Given the description of an element on the screen output the (x, y) to click on. 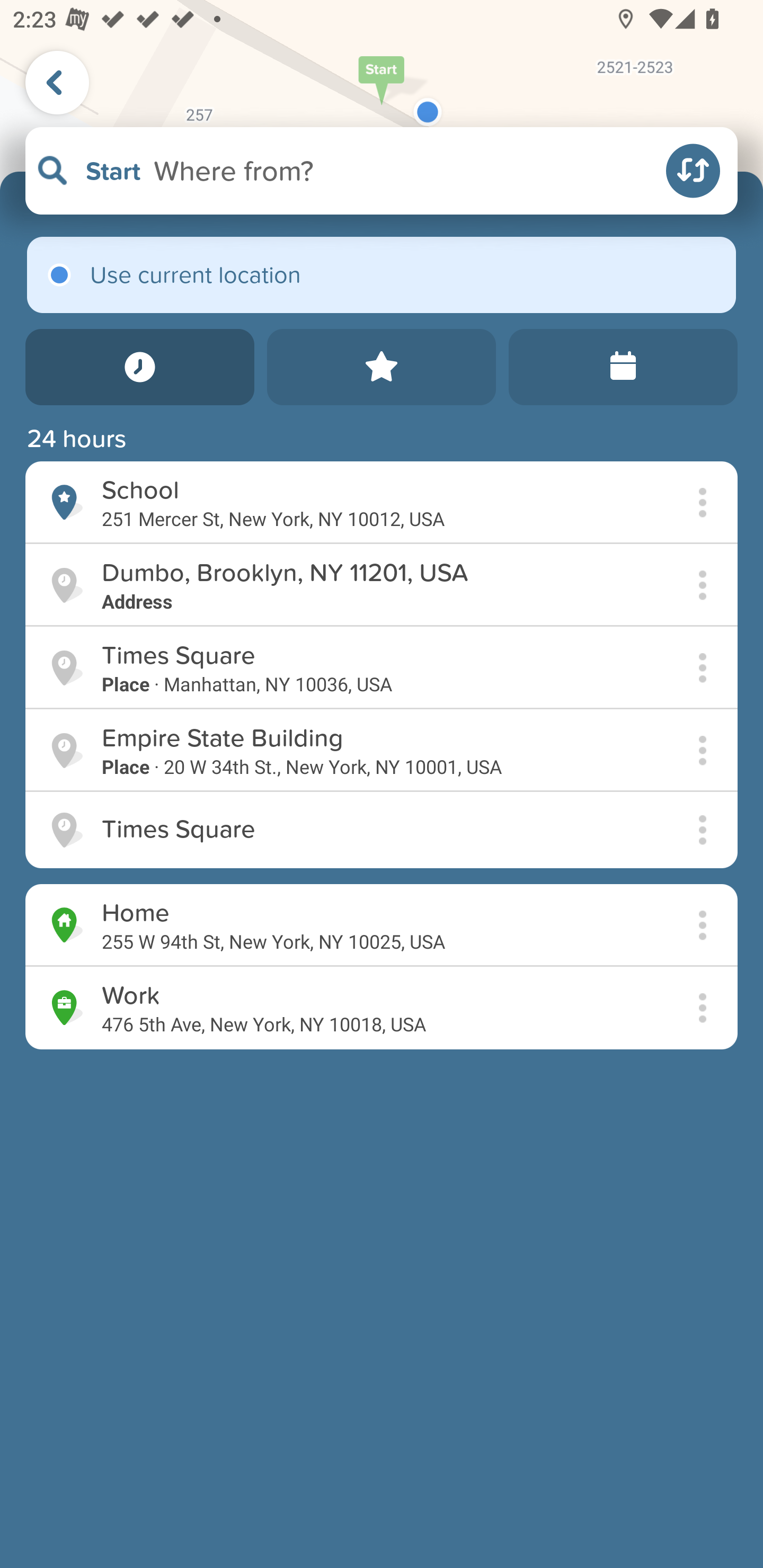
Work 476 5th Ave, New York, NY 10018, USA (381, 1007)
